Given the description of an element on the screen output the (x, y) to click on. 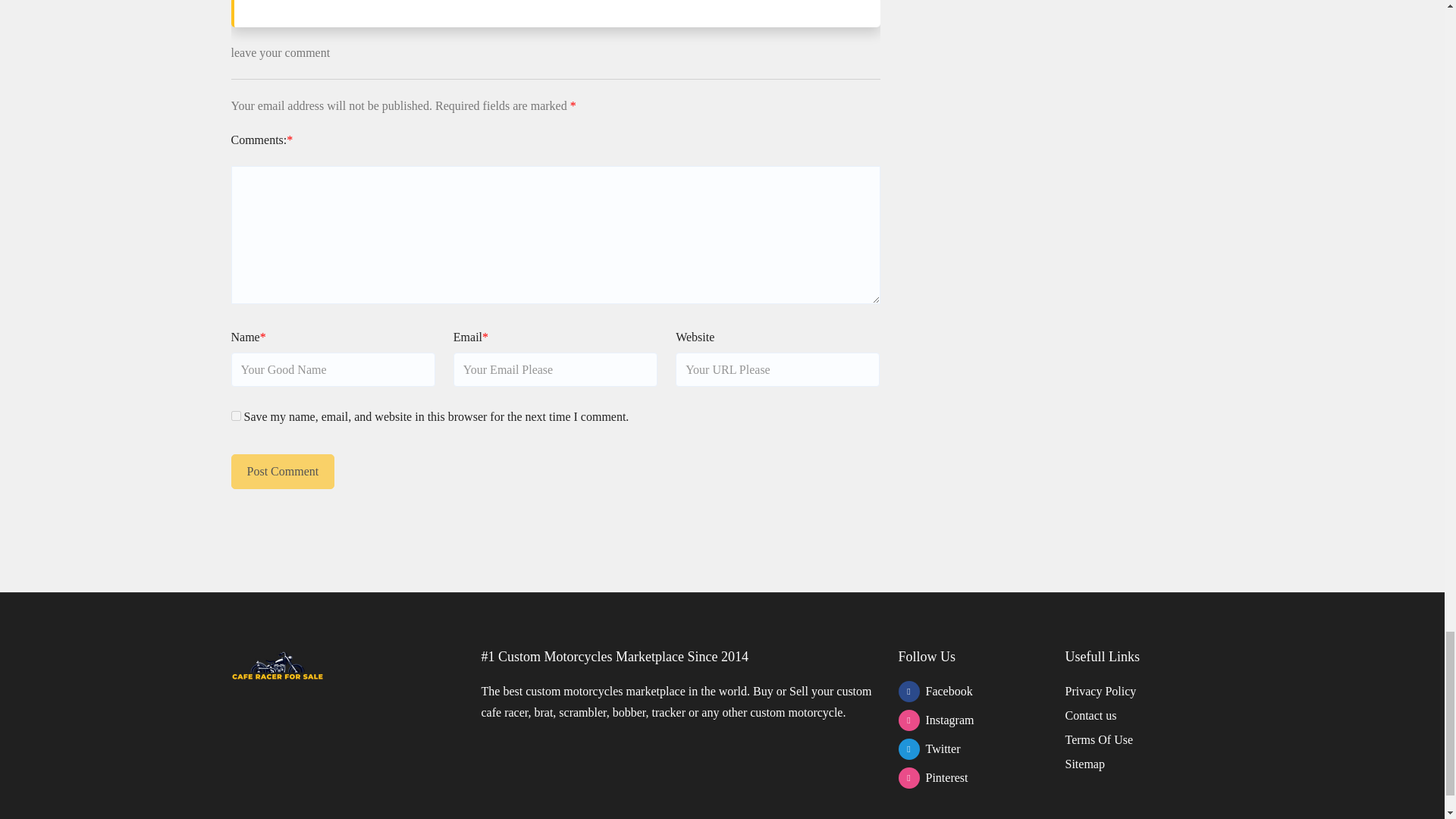
Contact us (1090, 715)
yes (235, 415)
Sitemap (1083, 763)
Post Comment (282, 471)
Instagram (970, 720)
Pinterest (970, 777)
Facebook (970, 690)
Terms Of Use (1098, 739)
Privacy Policy (1099, 690)
Post Comment (282, 471)
